Given the description of an element on the screen output the (x, y) to click on. 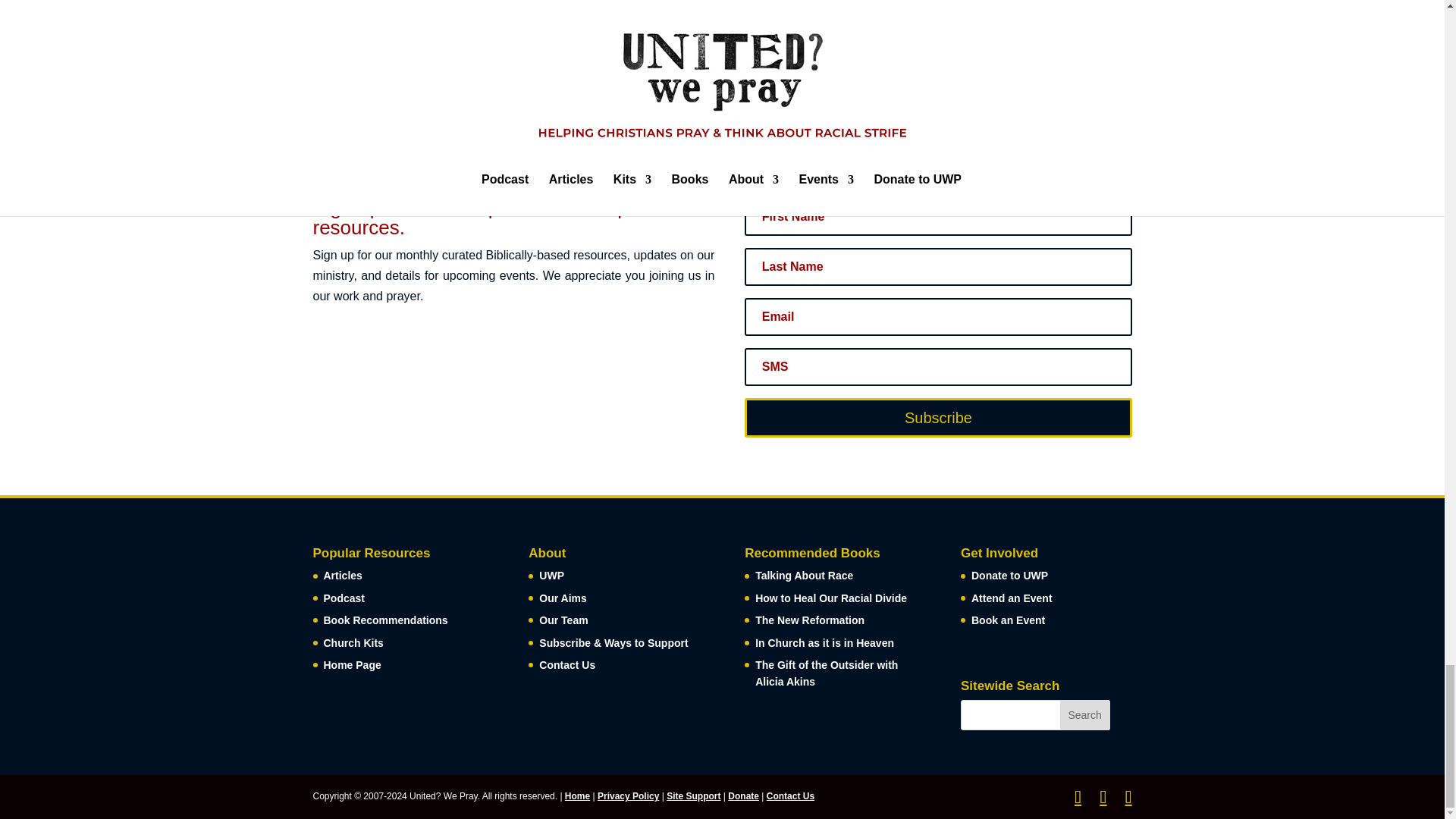
Page 10 (651, 107)
Search (1084, 715)
Page 11 (676, 107)
